Given the description of an element on the screen output the (x, y) to click on. 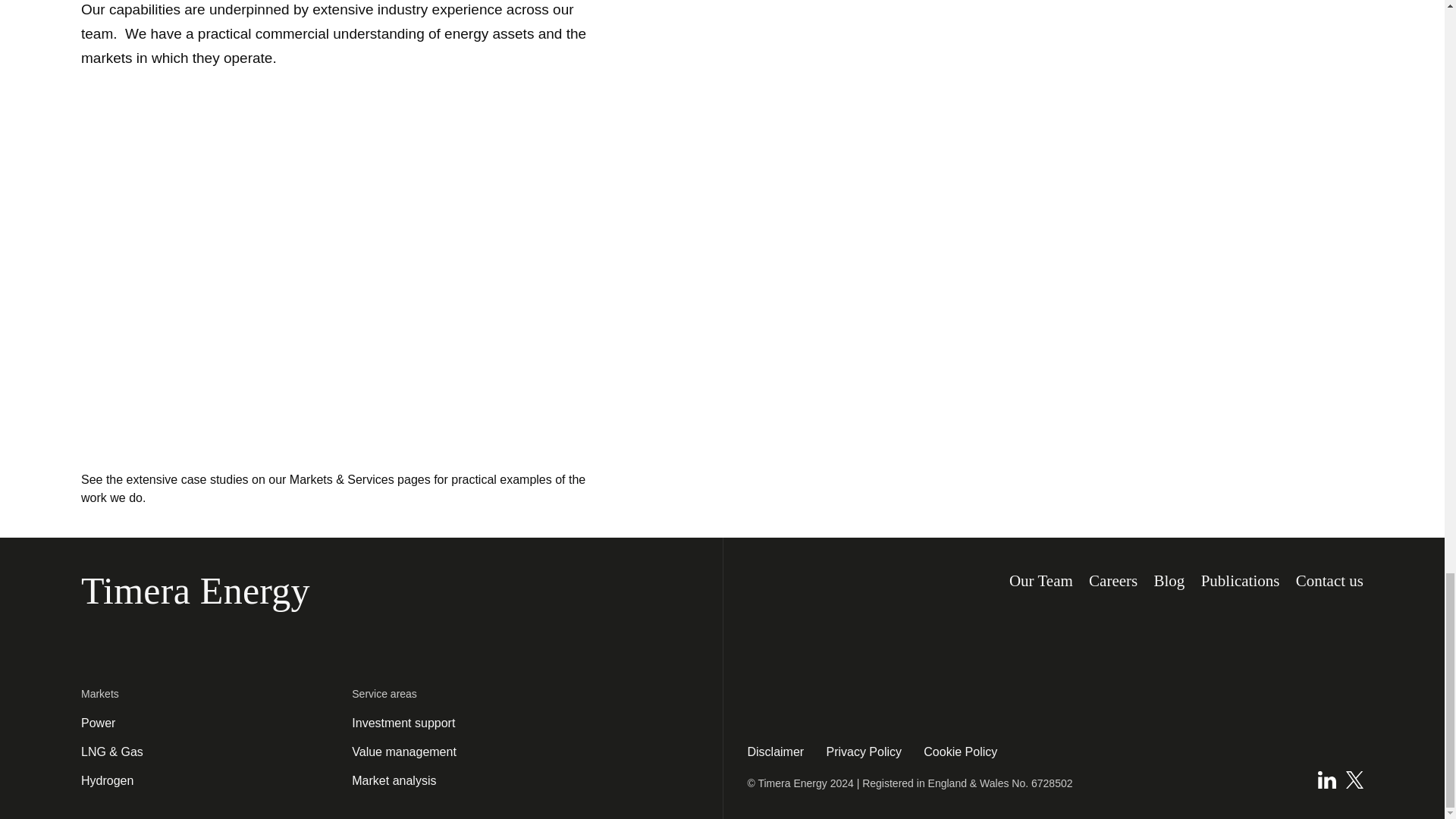
Value management (404, 751)
Our Team (1041, 580)
Careers (1113, 580)
Investment support (403, 722)
Hydrogen (107, 780)
Market analysis (393, 780)
Power (98, 722)
